Given the description of an element on the screen output the (x, y) to click on. 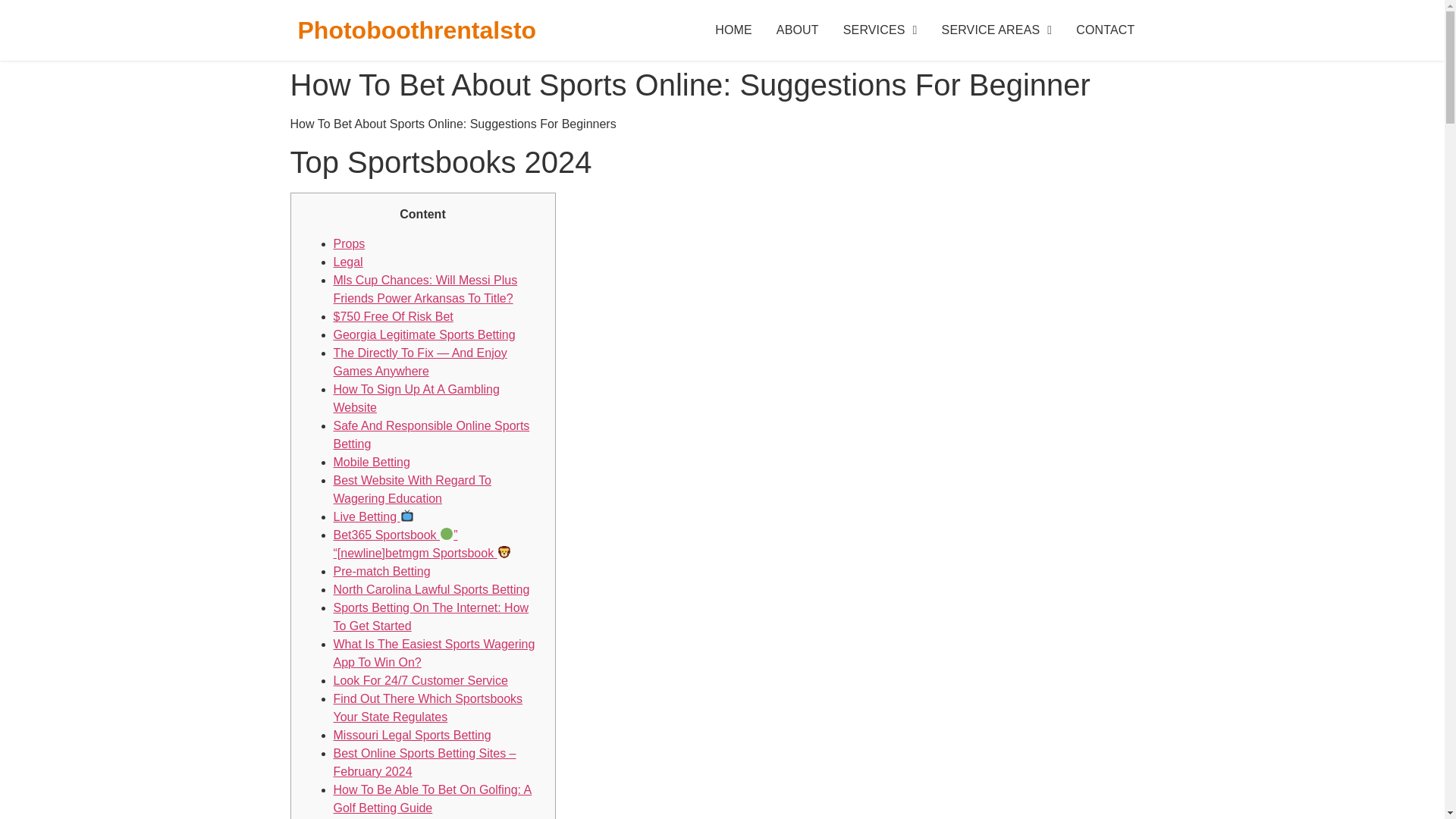
Legal (347, 261)
Safe And Responsible Online Sports Betting (431, 434)
SERVICE AREAS (997, 30)
Best Website With Regard To Wagering Education (412, 489)
Georgia Legitimate Sports Betting (424, 334)
What Is The Easiest Sports Wagering App To Win On? (434, 653)
ABOUT (797, 30)
Live Betting (373, 516)
HOME (733, 30)
North Carolina Lawful Sports Betting (431, 589)
CONTACT (1105, 30)
Sports Betting On The Internet: How To Get Started (431, 616)
SERVICES (880, 30)
Props (349, 243)
